Given the description of an element on the screen output the (x, y) to click on. 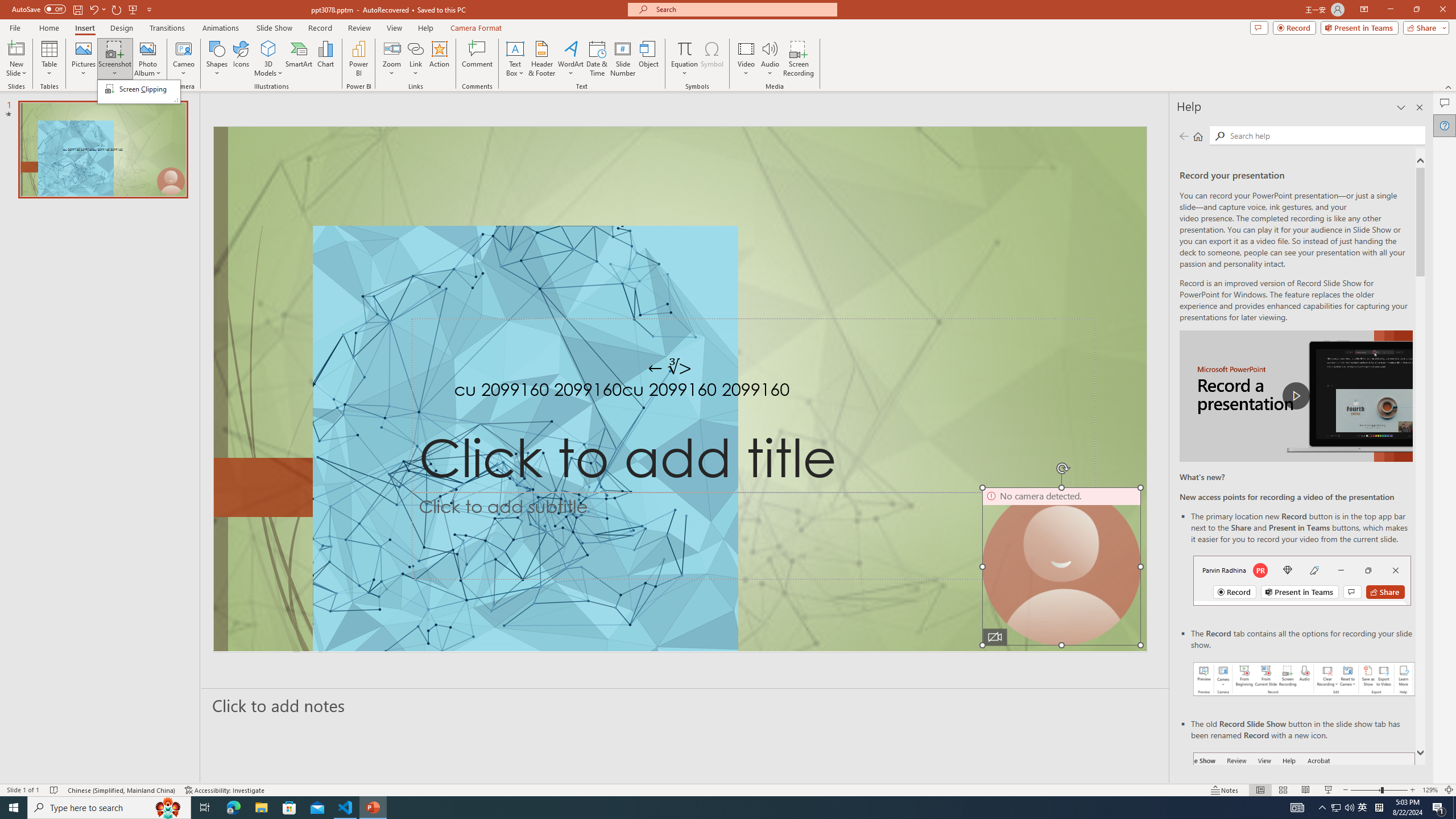
&Screenshot (138, 91)
play Record a Presentation (1296, 395)
